Given the description of an element on the screen output the (x, y) to click on. 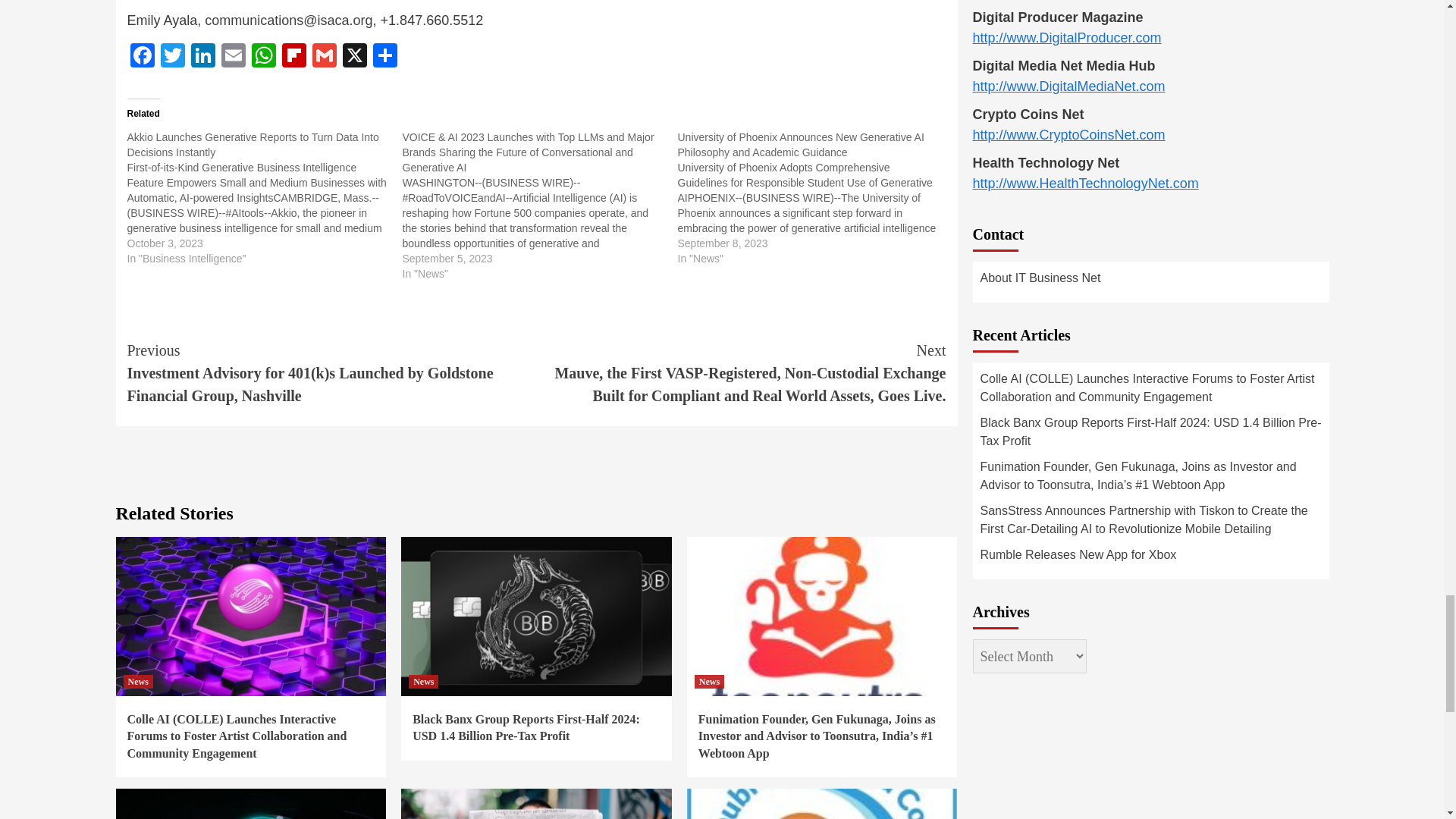
Twitter (172, 57)
Email (233, 57)
LinkedIn (202, 57)
Twitter (172, 57)
WhatsApp (263, 57)
Facebook (142, 57)
Facebook (142, 57)
LinkedIn (202, 57)
